Given the description of an element on the screen output the (x, y) to click on. 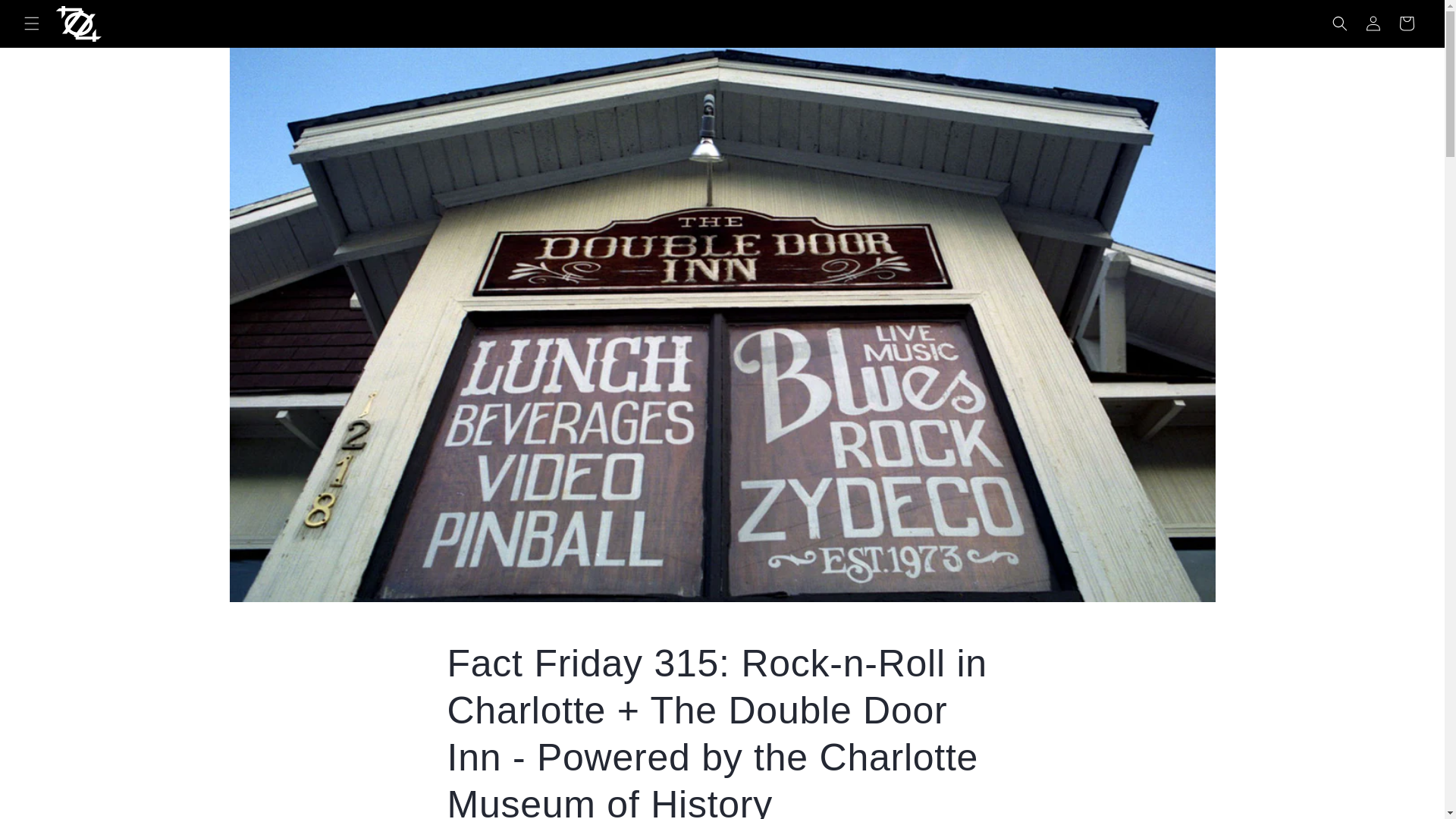
Skip to content (45, 17)
